Given the description of an element on the screen output the (x, y) to click on. 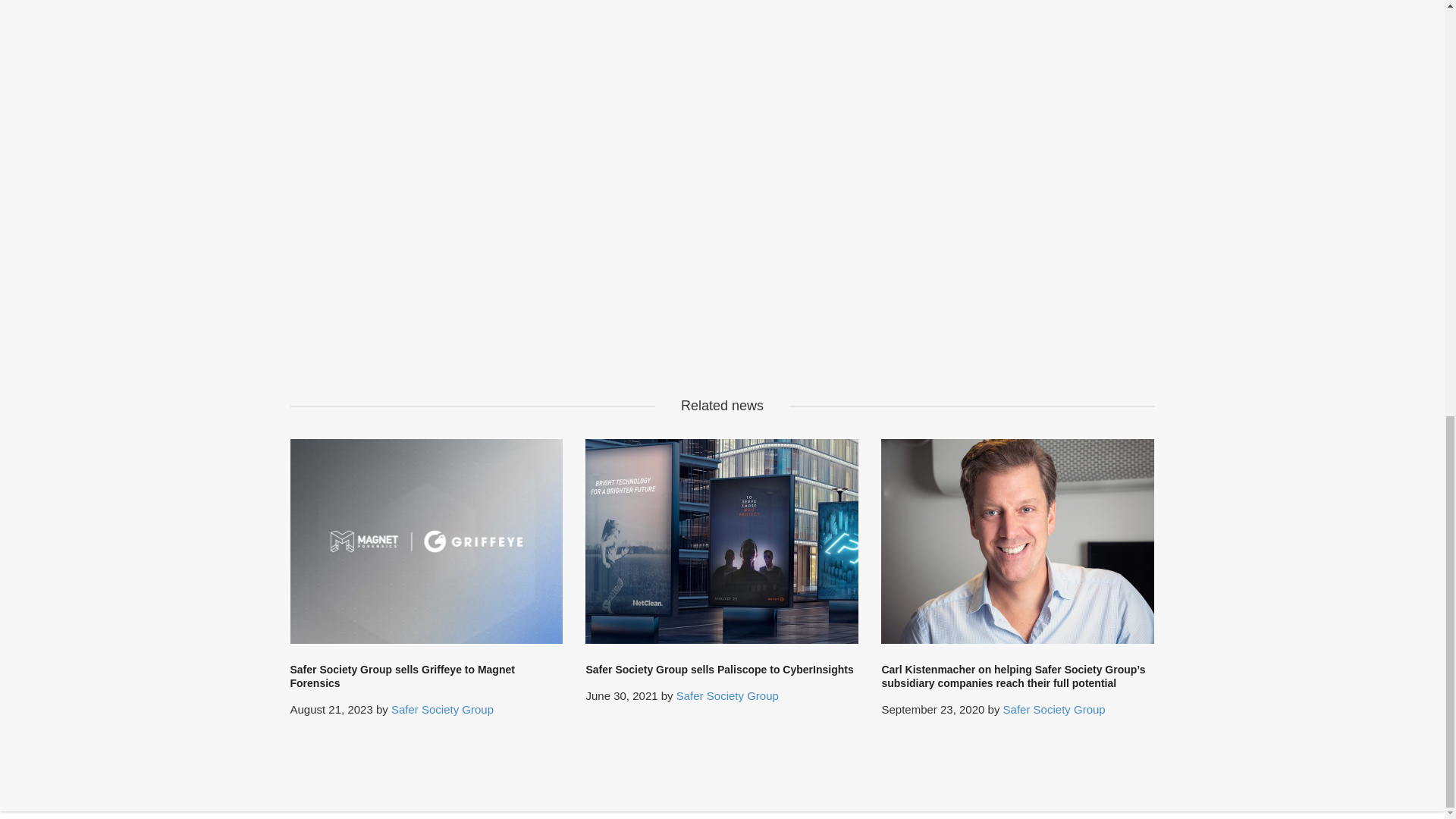
Safer Society Group (442, 708)
Safer Society Group (727, 695)
Safer Society Group sells Paliscope to CyberInsights (719, 669)
Safer Society Group (1054, 708)
Safer Society Group sells Griffeye to Magnet Forensics (401, 676)
